Given the description of an element on the screen output the (x, y) to click on. 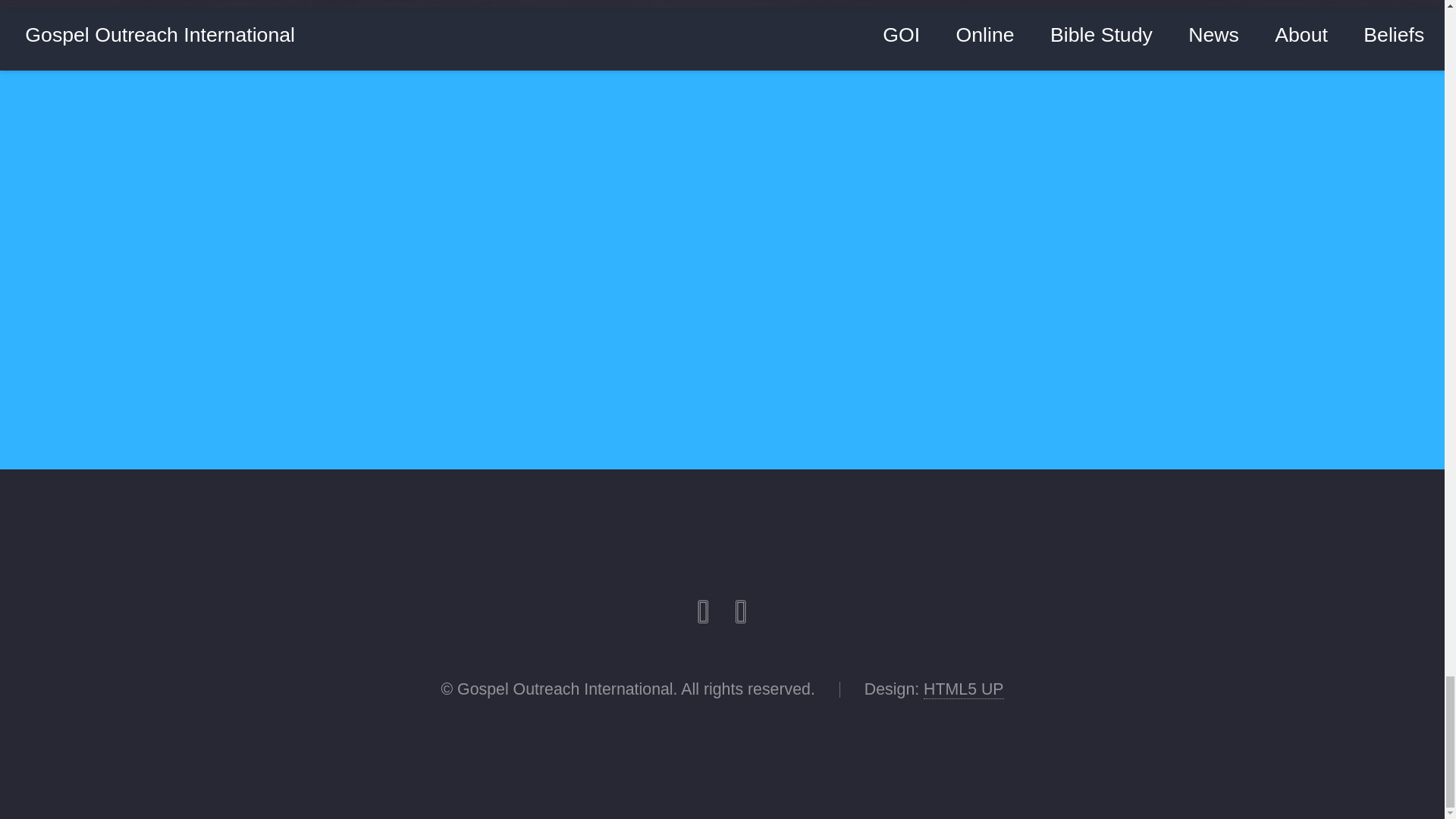
Get Started (966, 317)
HTML5 UP (963, 689)
